Given the description of an element on the screen output the (x, y) to click on. 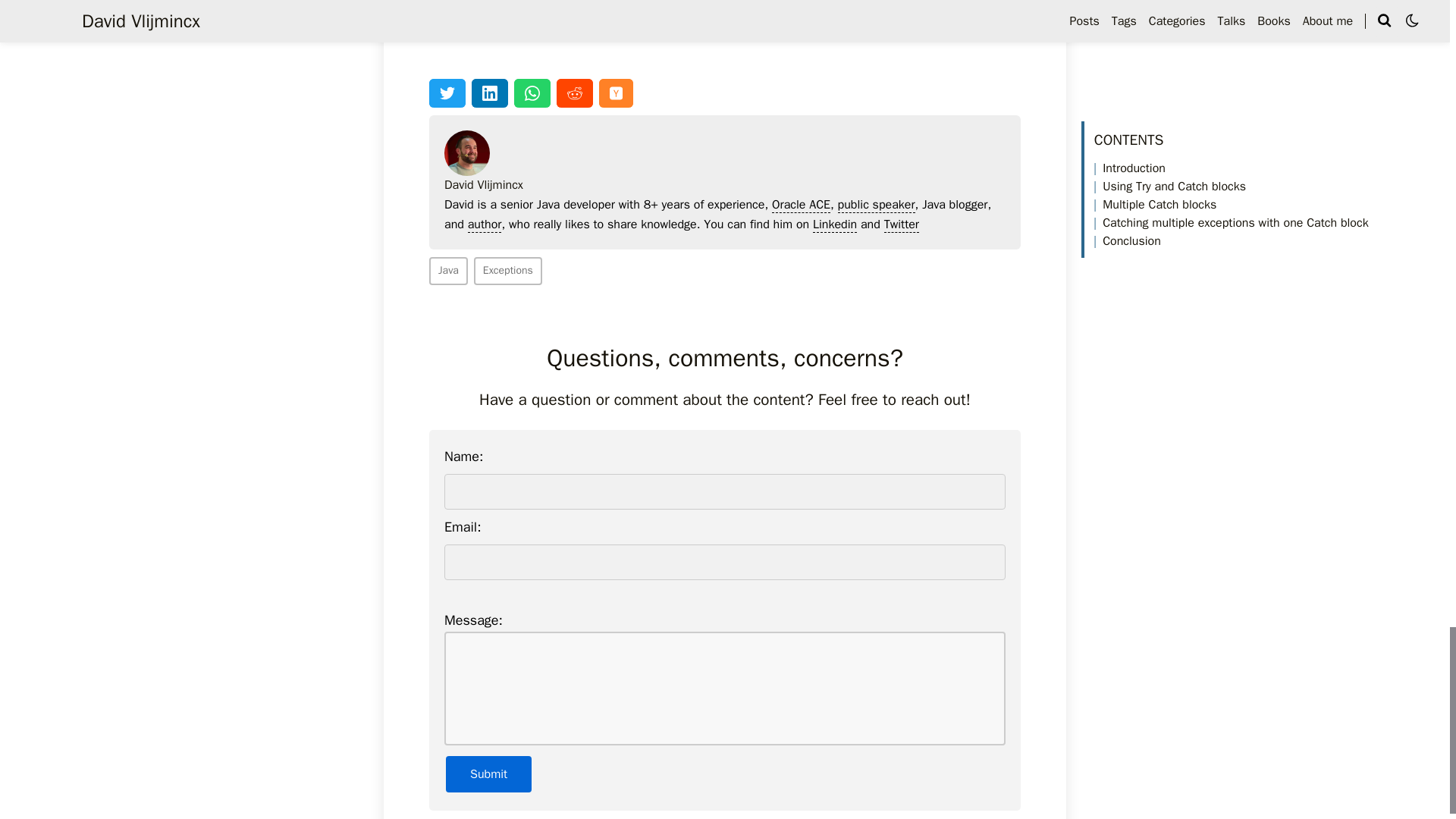
Share on Reddit (574, 92)
Twitter (440, 14)
LinkedIn (607, 15)
Share on Linkedin (489, 92)
Share on Twitter (447, 92)
Share on Hacker News (615, 92)
Share on WhatsApp (531, 92)
